Given the description of an element on the screen output the (x, y) to click on. 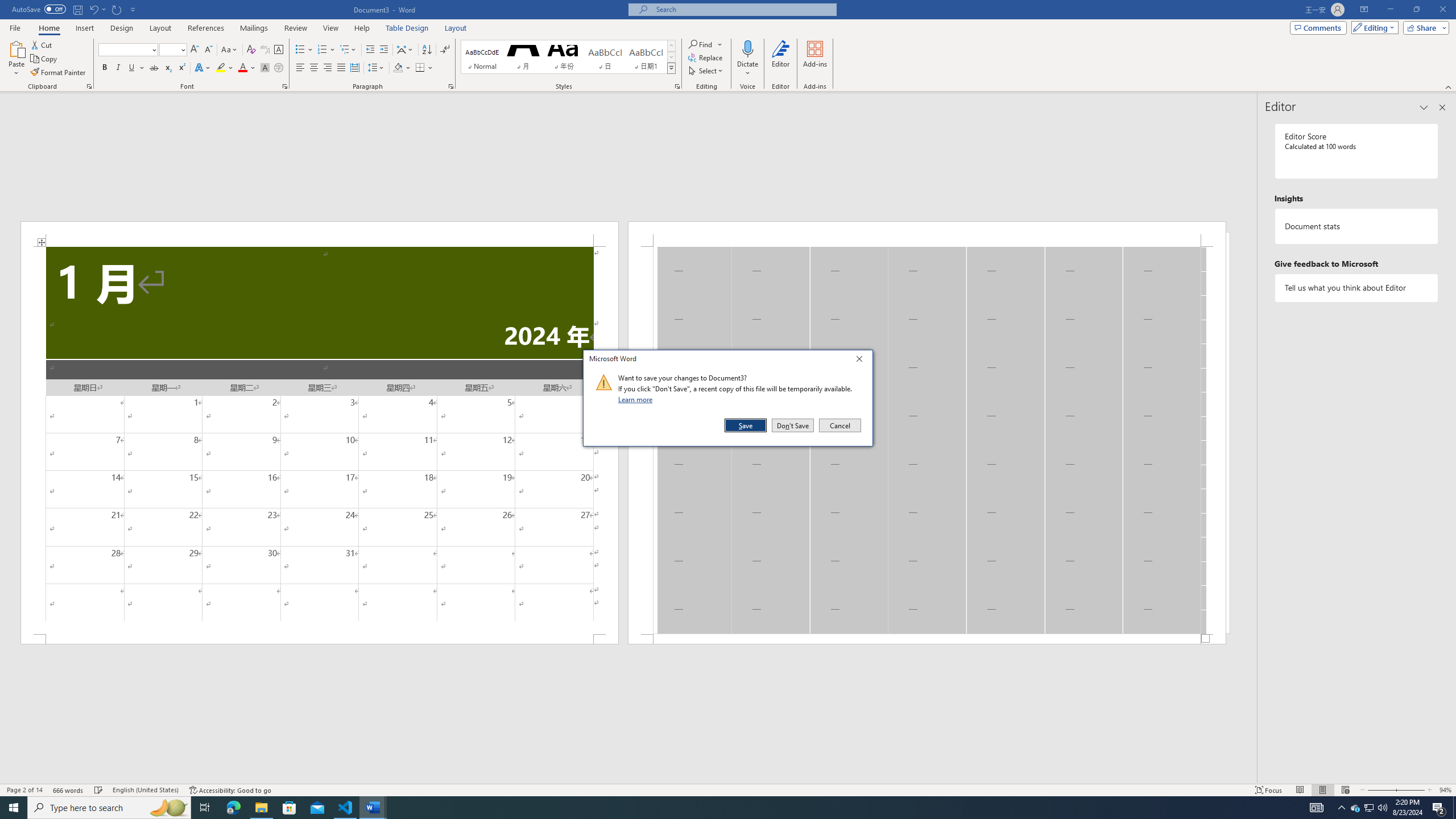
Row Down (670, 56)
Task View (204, 807)
Strikethrough (154, 67)
Show/Hide Editing Marks (444, 49)
Spelling and Grammar Check Checking (98, 790)
Language English (United States) (145, 790)
Office Clipboard... (88, 85)
